Given the description of an element on the screen output the (x, y) to click on. 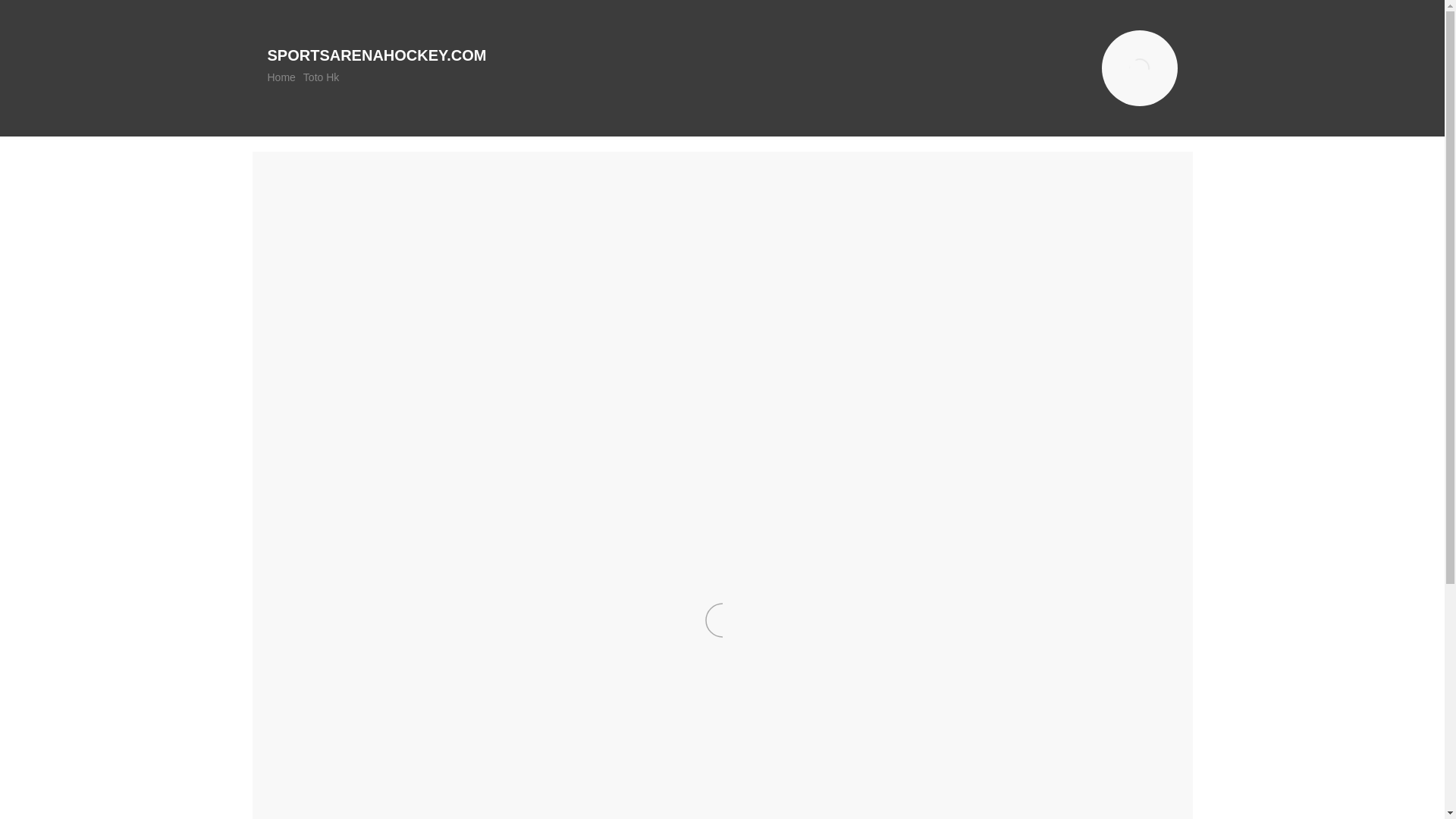
SPORTSARENAHOCKEY.COM (376, 54)
Home (280, 77)
Toto Hk (320, 77)
sportsarenahockey.com (376, 54)
